Given the description of an element on the screen output the (x, y) to click on. 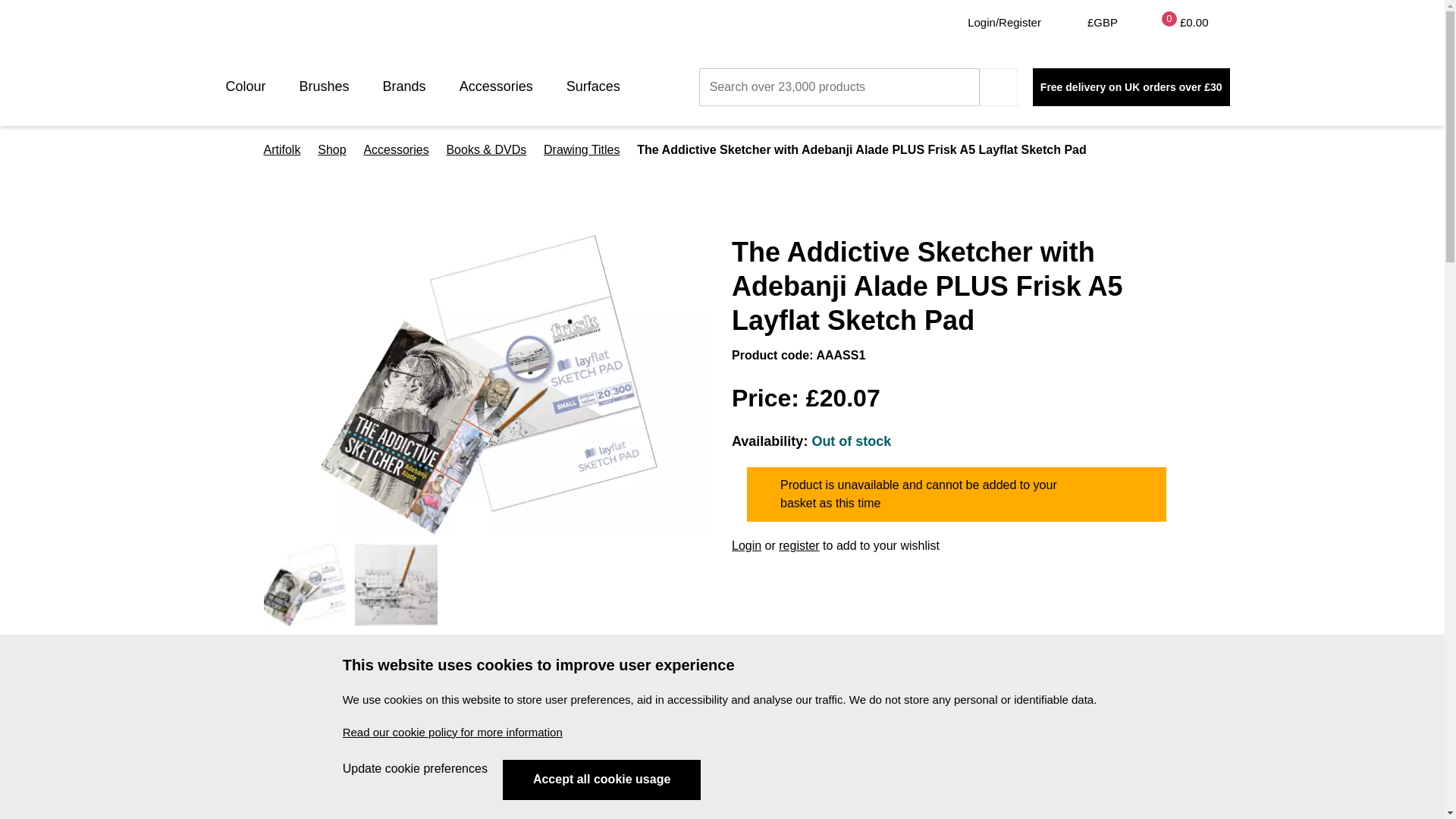
Artifolk (282, 149)
Artifolk (259, 31)
Colour (251, 86)
Brushes (330, 86)
Update cookie preferences (601, 780)
Read our cookie policy for more information (414, 769)
Brands (452, 731)
Surfaces (410, 86)
Accessories (599, 86)
